Given the description of an element on the screen output the (x, y) to click on. 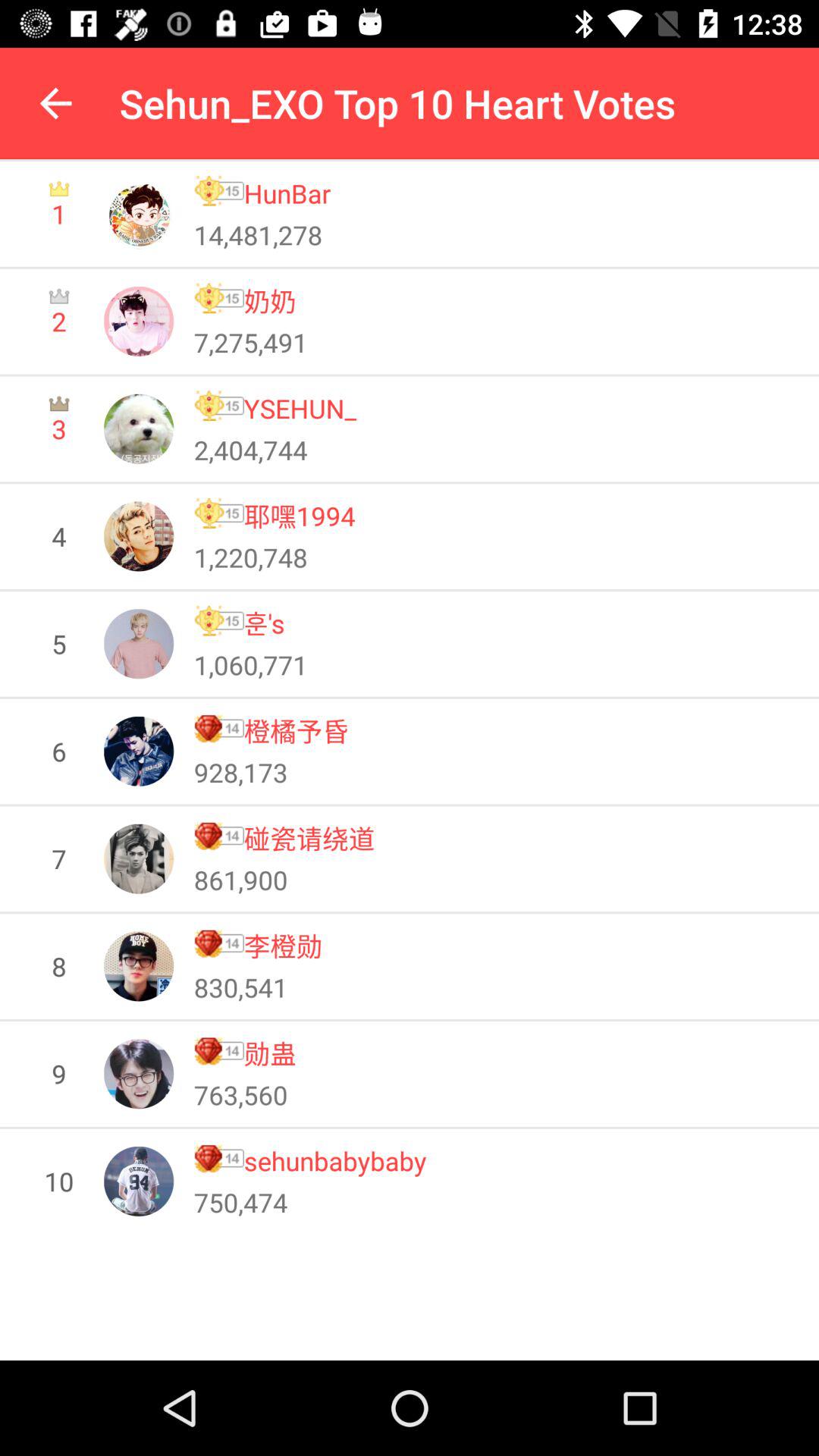
jump until sehunbabybaby item (334, 1160)
